Given the description of an element on the screen output the (x, y) to click on. 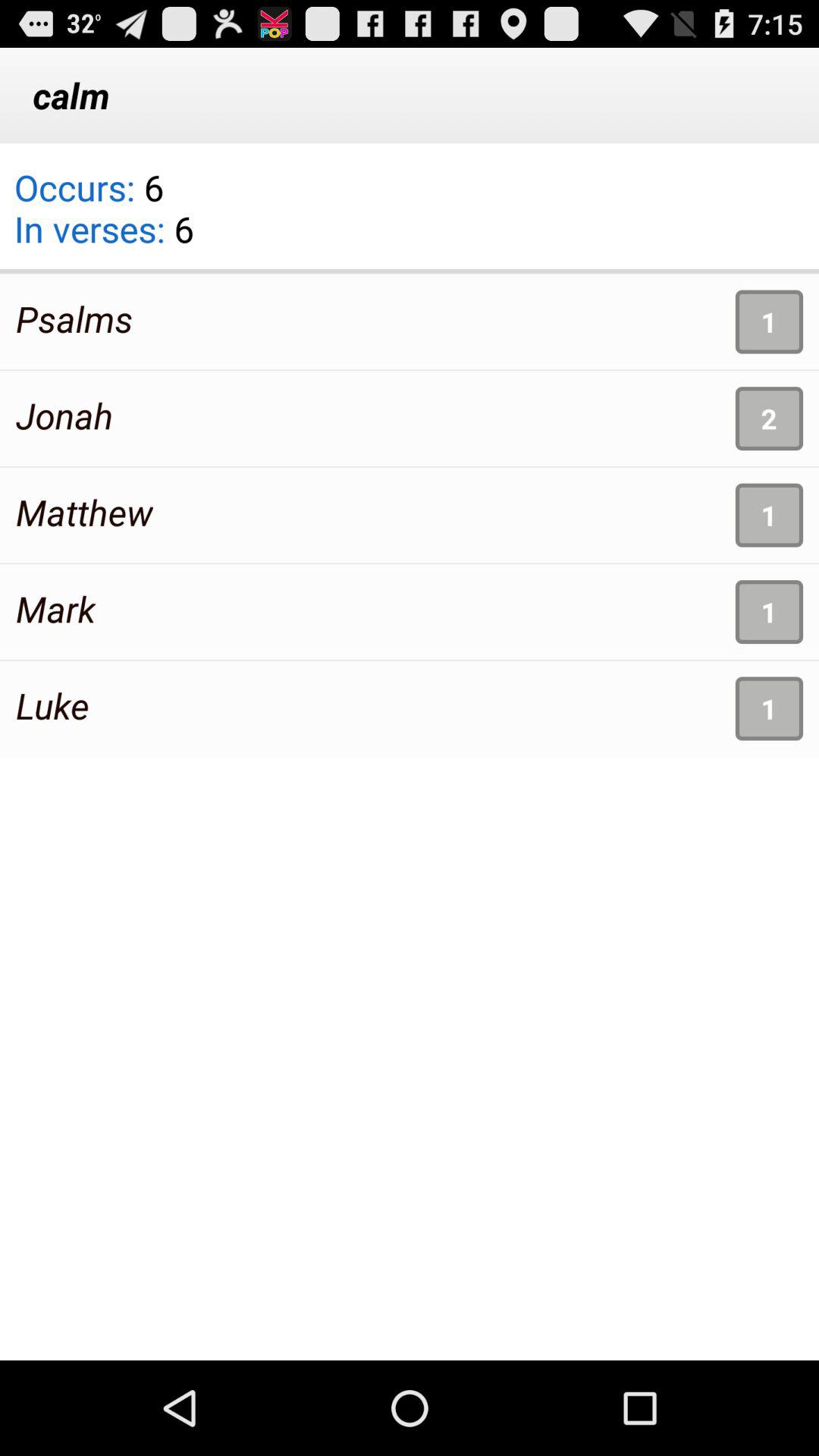
press app above the 1 (769, 418)
